Given the description of an element on the screen output the (x, y) to click on. 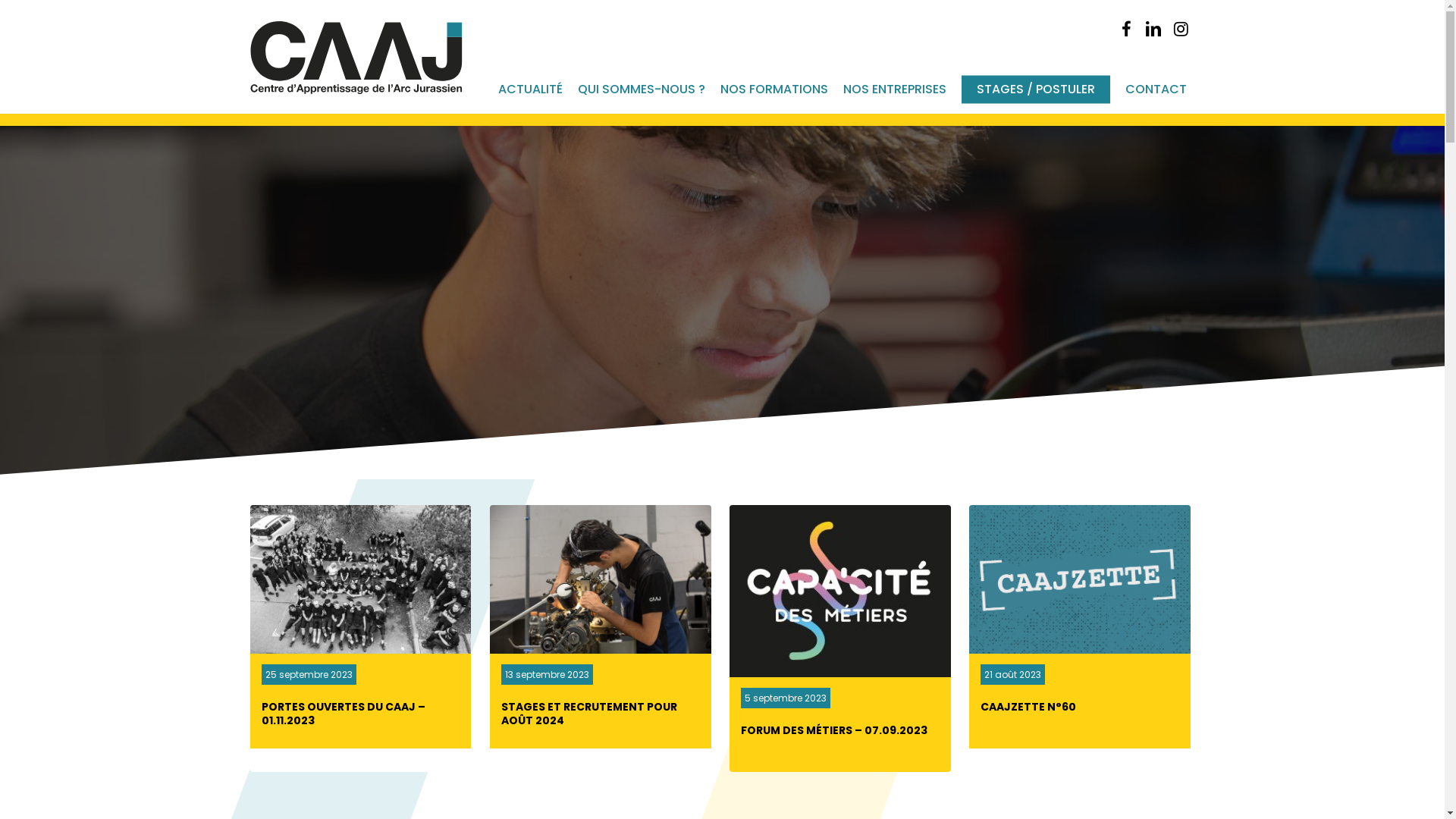
CONTACT Element type: text (1155, 89)
INSTAGRAM Element type: text (1180, 28)
LINKEDIN Element type: text (1153, 28)
FACEBOOK Element type: text (1125, 28)
QUI SOMMES-NOUS ? Element type: text (641, 89)
NOS ENTREPRISES Element type: text (894, 89)
STAGES / POSTULER Element type: text (1035, 89)
NOS FORMATIONS Element type: text (773, 89)
